Given the description of an element on the screen output the (x, y) to click on. 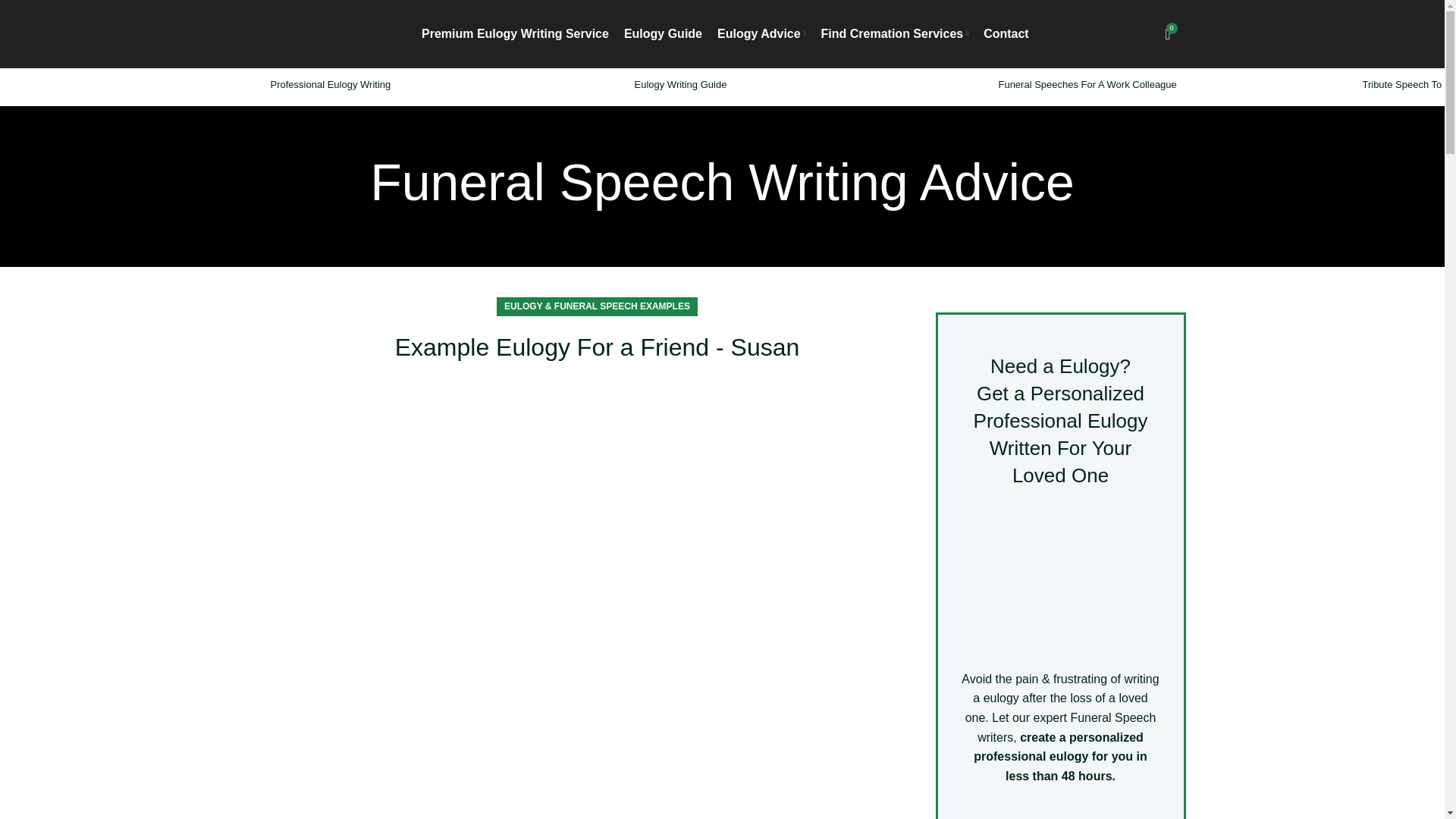
Find Cremation Services (895, 33)
Eulogy Writing Guide (679, 84)
Funeral Speeches For A Work Colleague (1086, 84)
Professional Eulogy Writing (329, 84)
Premium Eulogy Writing Service (515, 33)
Eulogy Advice (761, 33)
professional eulogy writing service sidebar (1059, 579)
Tribute Speech To Dad From Daughter (1408, 84)
Eulogy Guide (662, 33)
